Given the description of an element on the screen output the (x, y) to click on. 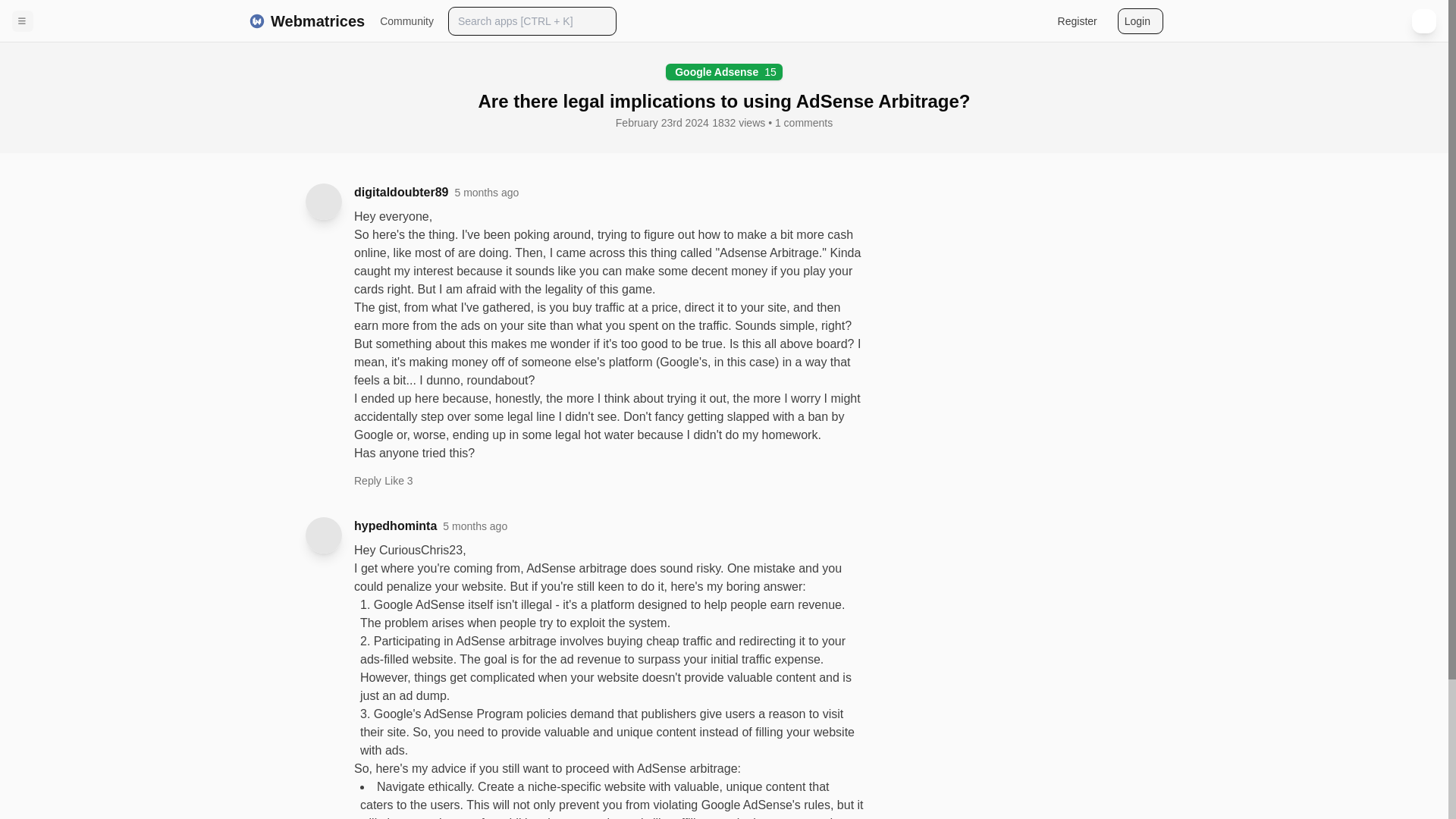
5 months ago (486, 192)
Community (406, 20)
Webmatrices (306, 20)
Reply (367, 484)
Login (1139, 21)
Friday, February 23, 2024 11:25 PM (474, 525)
hypedhominta (724, 71)
digitaldoubter89 (394, 525)
Register (400, 192)
